Given the description of an element on the screen output the (x, y) to click on. 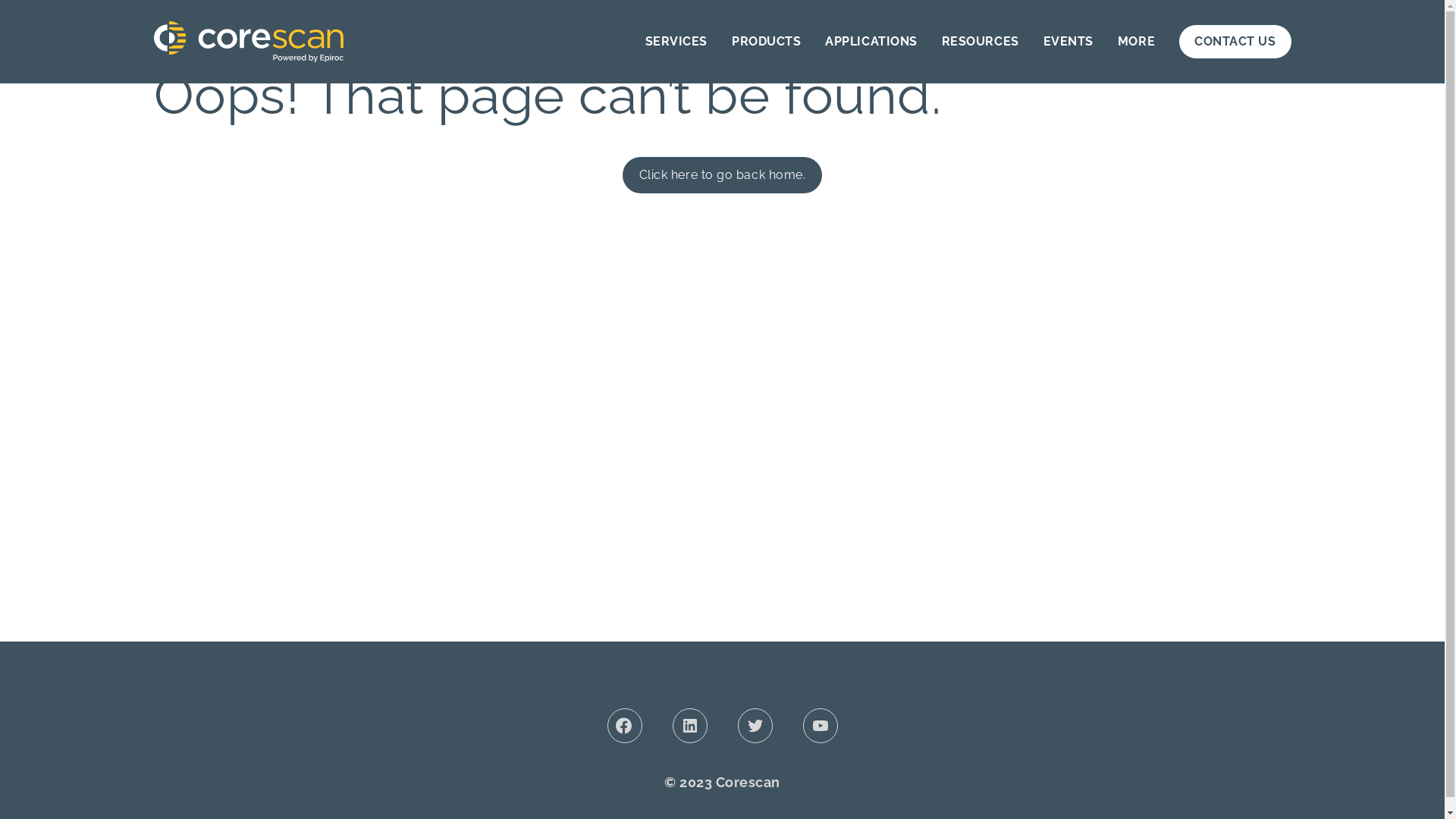
SERVICES Element type: text (676, 41)
MORE Element type: text (1135, 41)
PRODUCTS Element type: text (765, 41)
CONTACT US Element type: text (1234, 41)
EVENTS Element type: text (1068, 41)
APPLICATIONS Element type: text (870, 41)
Linkedin Element type: text (688, 725)
RESOURCES Element type: text (980, 41)
Click here to go back home. Element type: text (722, 174)
Youtube Element type: text (819, 725)
Facebook Element type: text (623, 725)
Twitter Element type: text (754, 725)
